Given the description of an element on the screen output the (x, y) to click on. 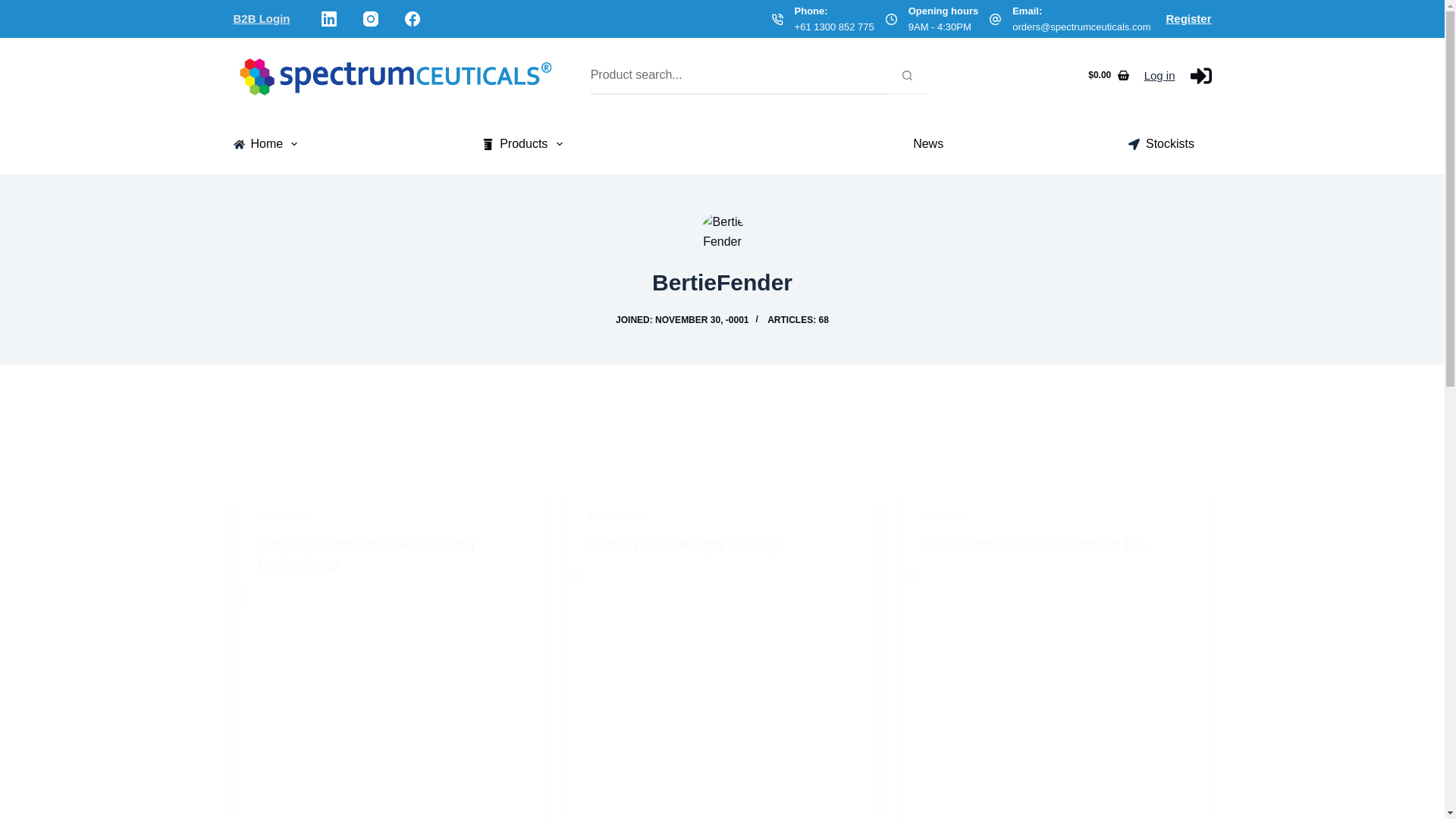
Register (1188, 18)
BertieFender (722, 282)
B2B Login (260, 18)
Skip to content (15, 7)
Log in (1159, 74)
Search for... (739, 75)
